Given the description of an element on the screen output the (x, y) to click on. 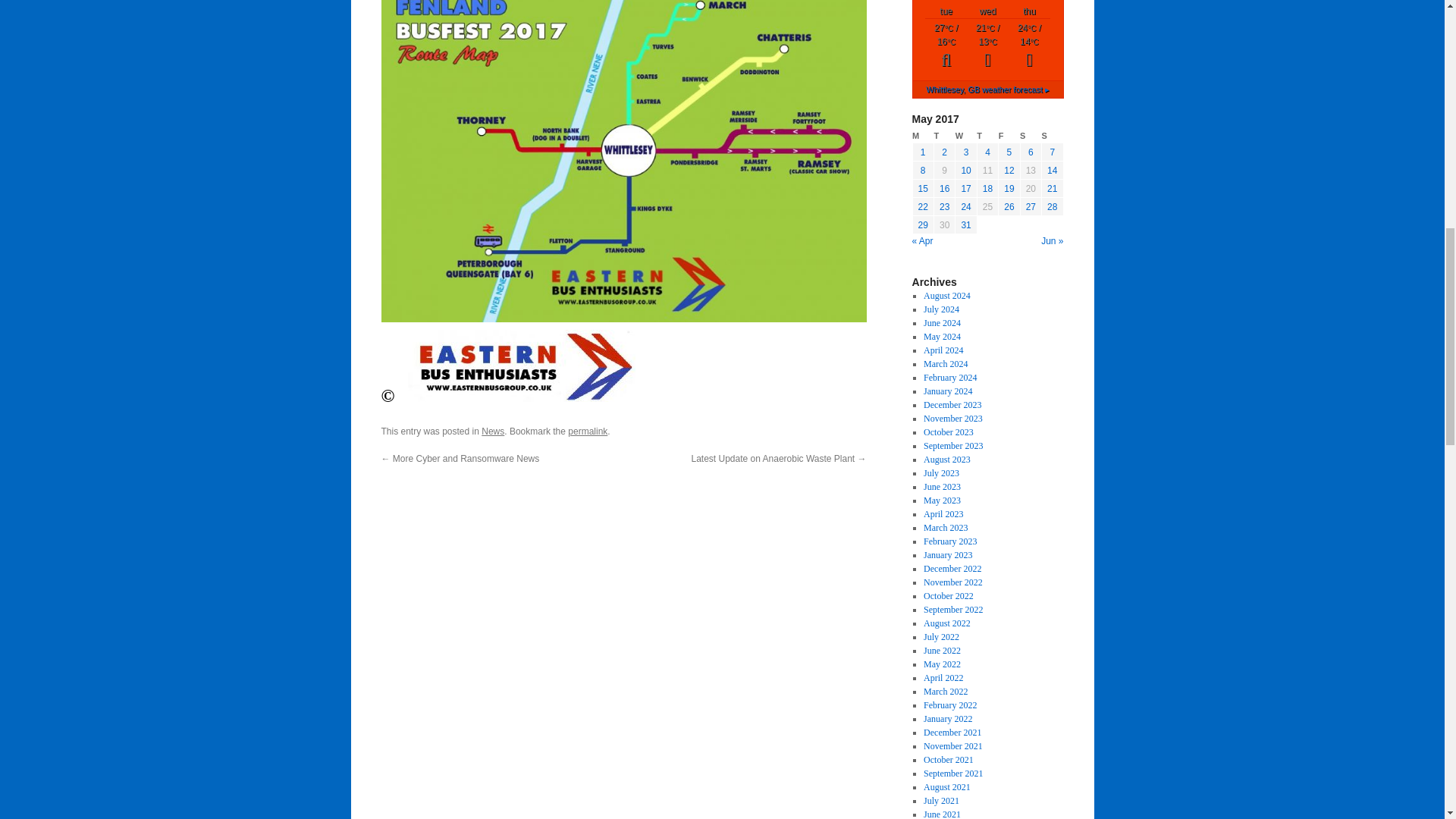
12 (1008, 170)
Monday (922, 135)
Friday (1009, 135)
Wednesday (965, 135)
permalink (587, 430)
Permalink to BusFest this Sunday 21st May (587, 430)
15 (923, 188)
16 (944, 188)
10 (965, 170)
14 (1051, 170)
